Given the description of an element on the screen output the (x, y) to click on. 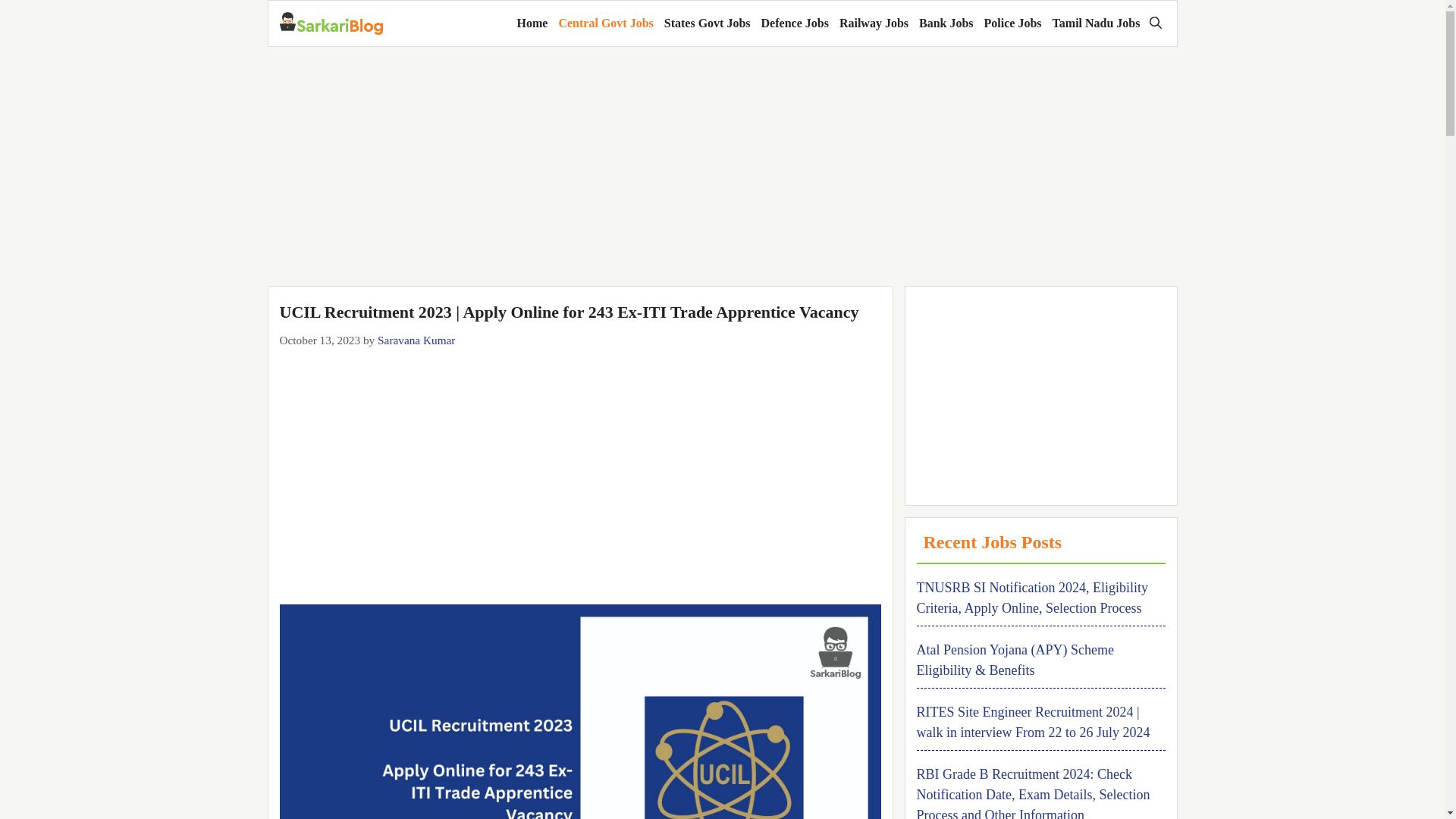
Railway Jobs (874, 22)
States Govt Jobs (707, 22)
Sarkari Blog: Latest Government Jobs 2024 Notification (330, 23)
Defence Jobs (794, 22)
Central Govt Jobs (605, 22)
Saravana Kumar (415, 339)
Bank Jobs (946, 22)
Police Jobs (1012, 22)
UCIL Recruitment 2023 (579, 711)
